Given the description of an element on the screen output the (x, y) to click on. 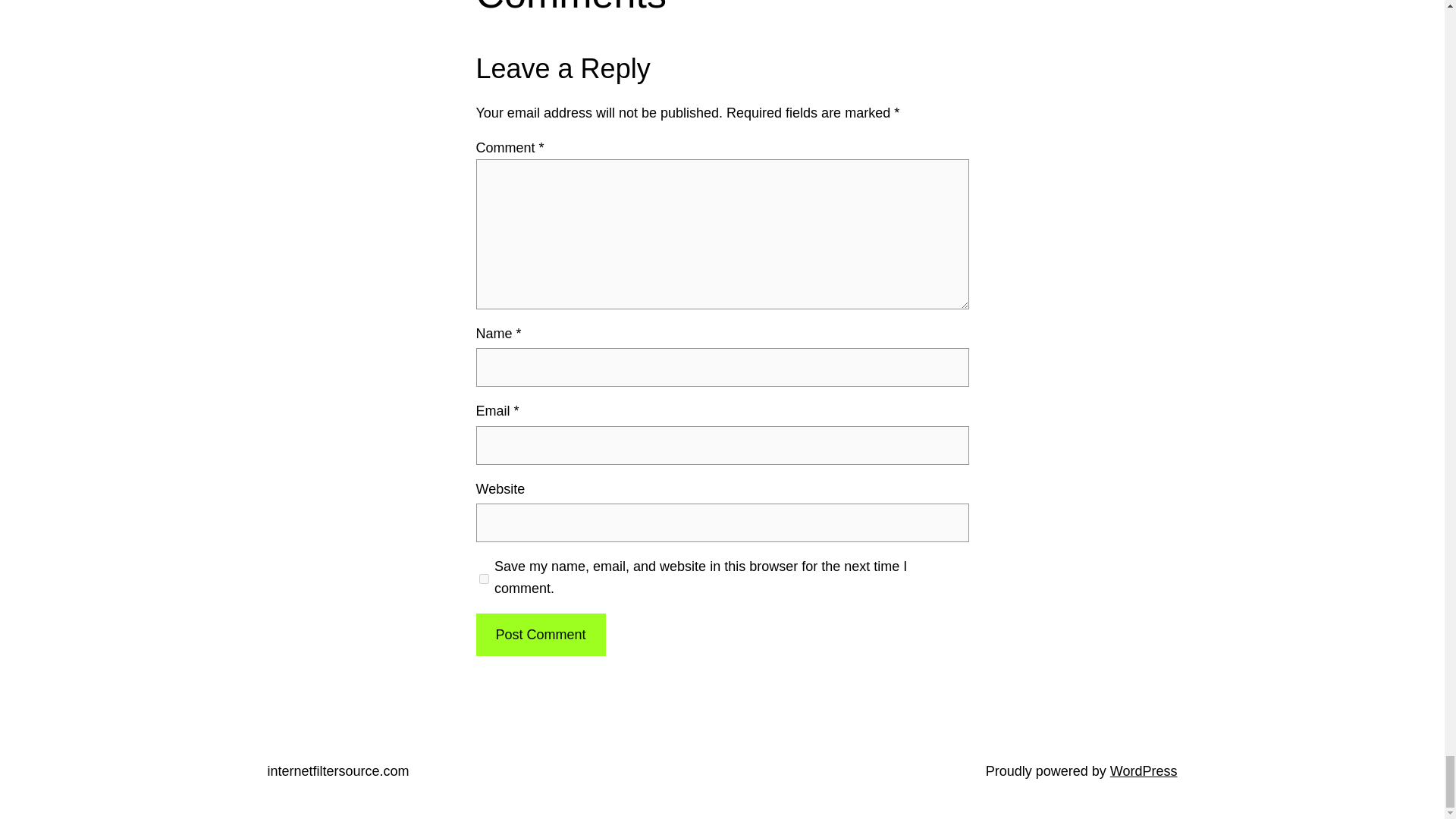
internetfiltersource.com (337, 770)
WordPress (1143, 770)
Post Comment (540, 634)
Post Comment (540, 634)
